Given the description of an element on the screen output the (x, y) to click on. 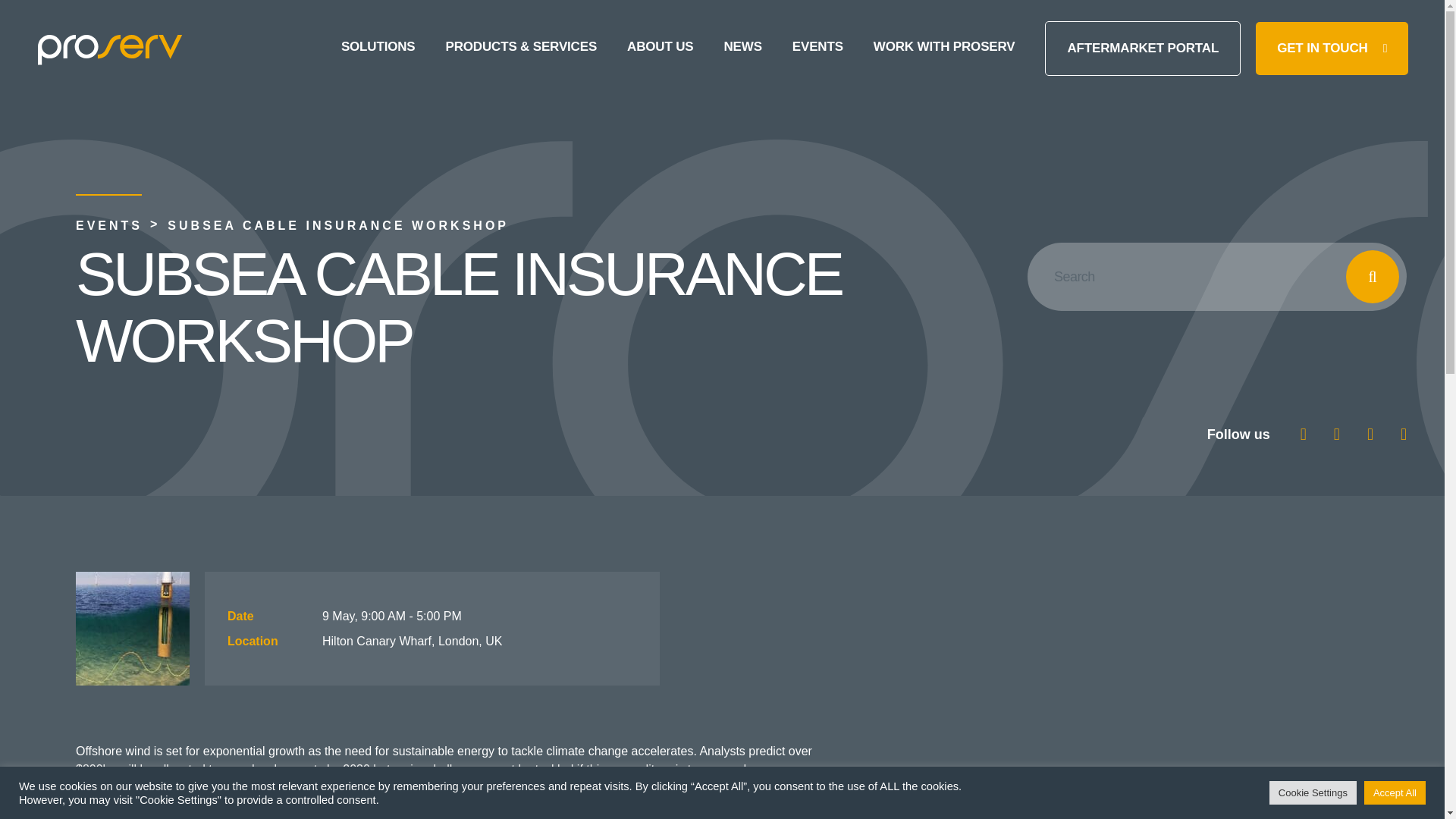
AFTERMARKET PORTAL (1142, 48)
WORK WITH PROSERV (943, 48)
GET IN TOUCH (1331, 48)
